Given the description of an element on the screen output the (x, y) to click on. 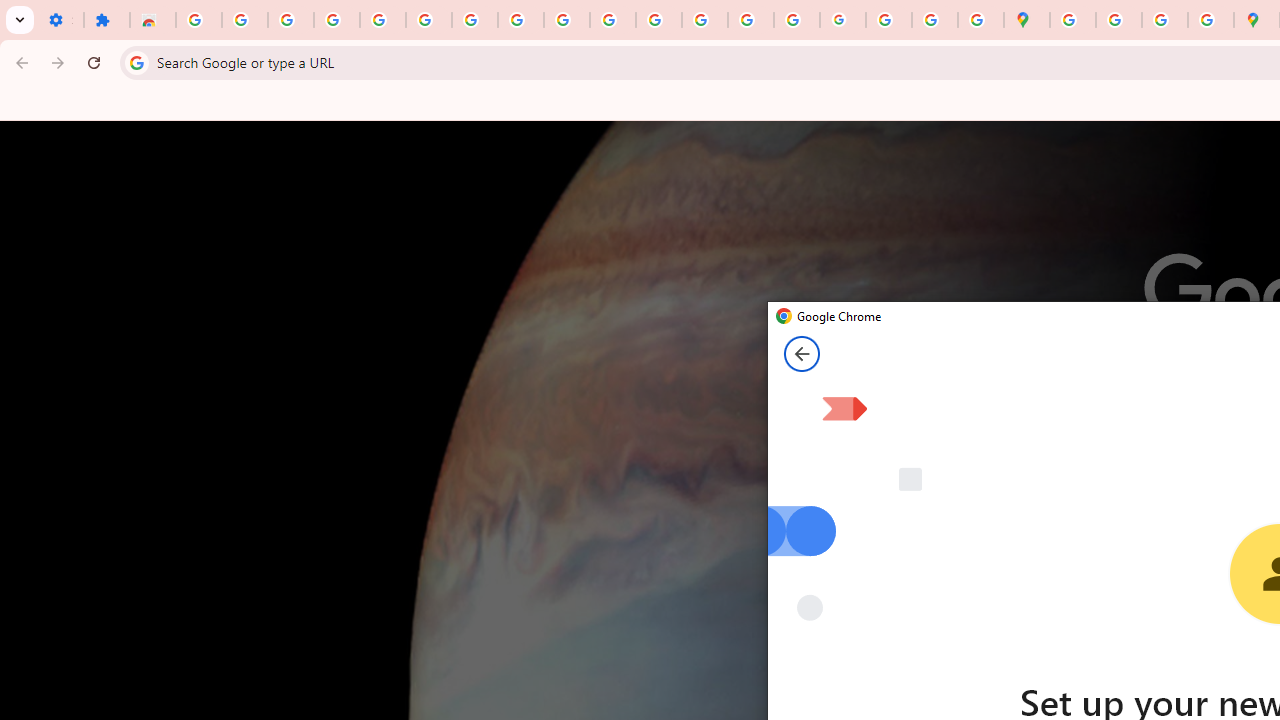
Sign in - Google Accounts (428, 20)
Google Maps (1026, 20)
